Given the description of an element on the screen output the (x, y) to click on. 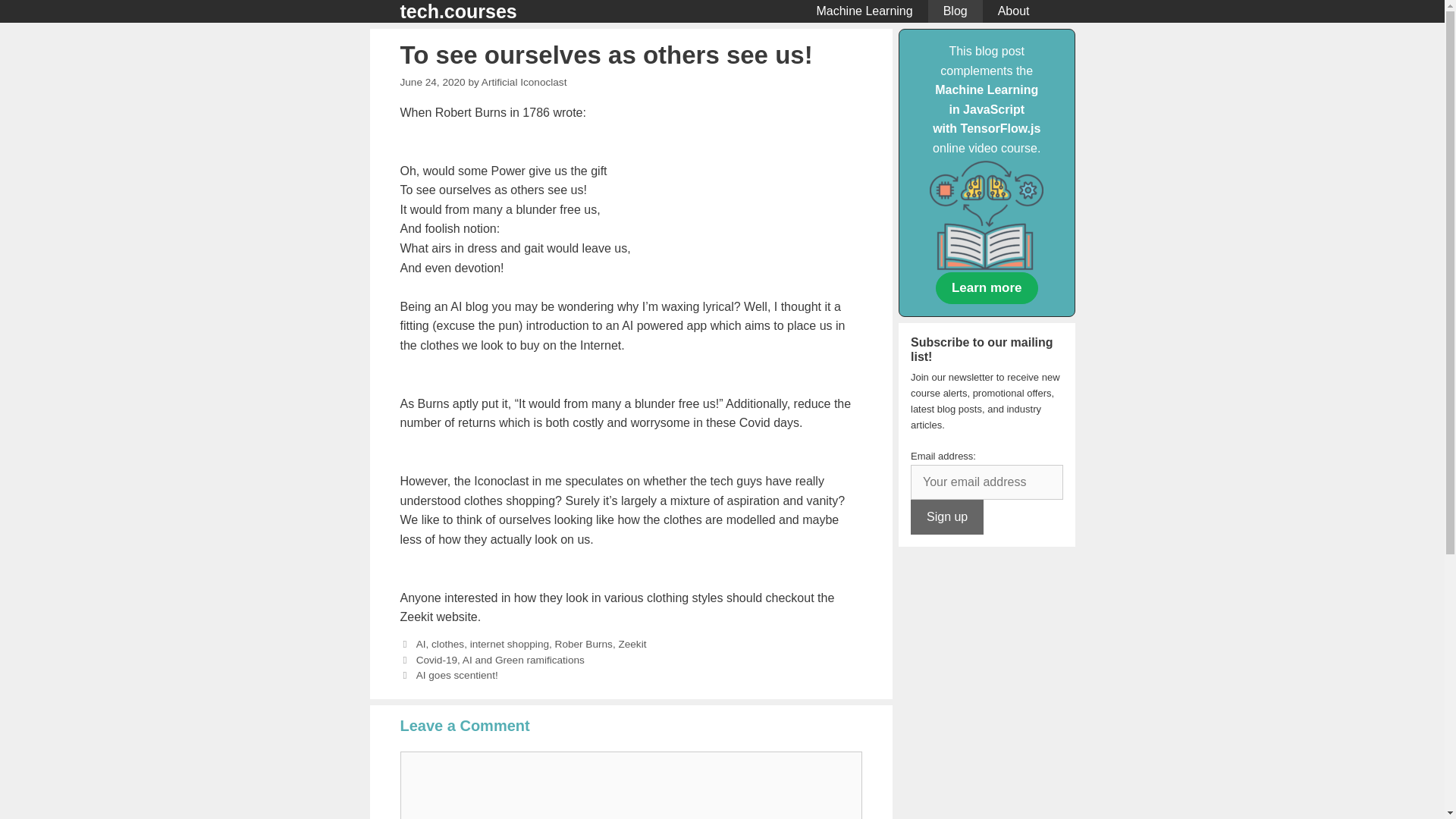
9:23 am (432, 81)
Previous (492, 659)
Sign up (947, 516)
Next (448, 674)
clothes (447, 644)
Learn more (987, 287)
Artificial Iconoclast (524, 81)
Machine Learning in JavaScript with TensorFlow.js (987, 109)
Machine Learning (863, 11)
June 24, 2020 (432, 81)
